Given the description of an element on the screen output the (x, y) to click on. 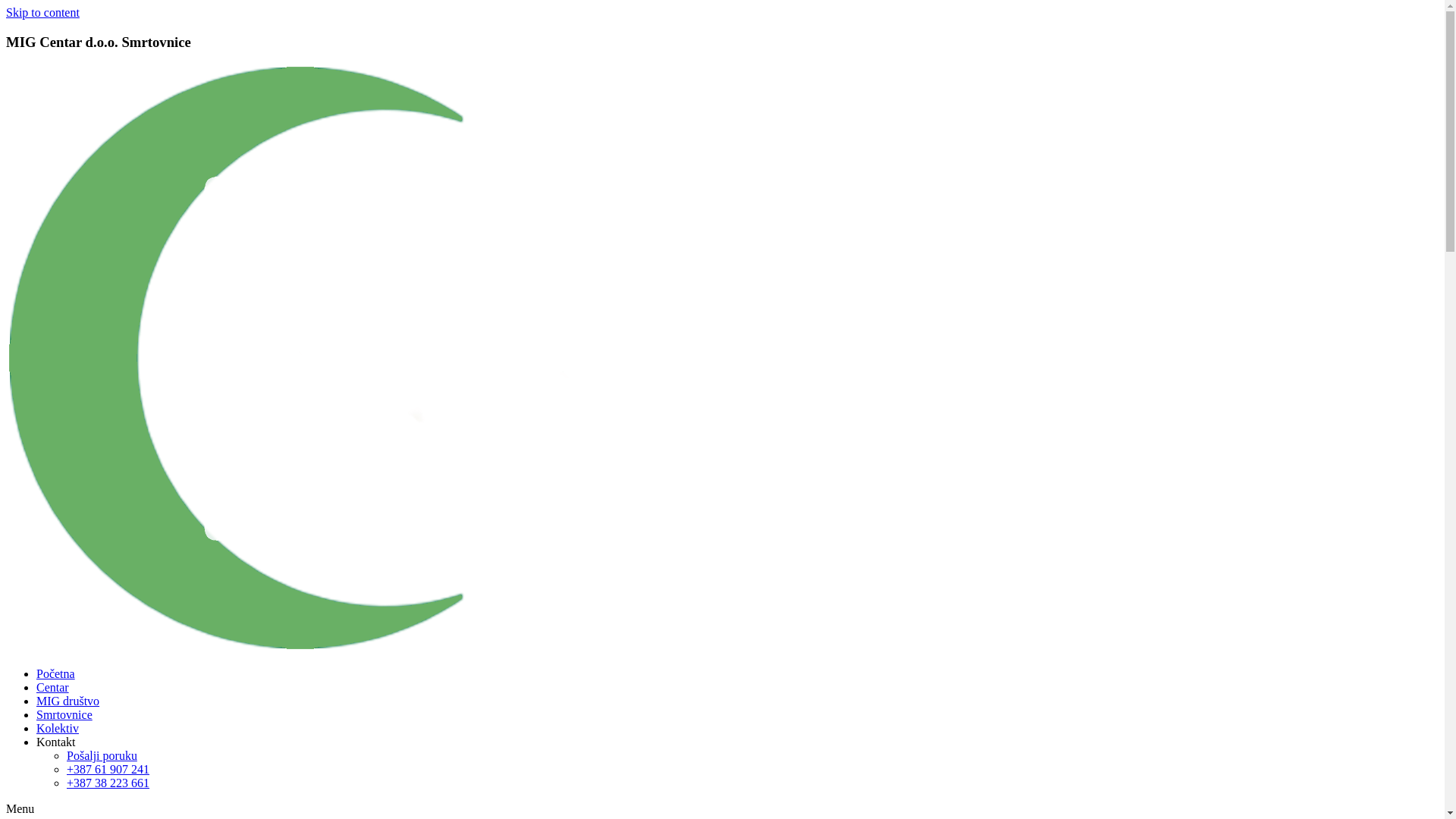
Skip to content Element type: text (42, 12)
Kolektiv Element type: text (57, 727)
+387 61 907 241 Element type: text (107, 768)
+387 38 223 661 Element type: text (107, 782)
Smrtovnice Element type: text (64, 714)
Centar Element type: text (52, 686)
Kontakt Element type: text (55, 741)
